Given the description of an element on the screen output the (x, y) to click on. 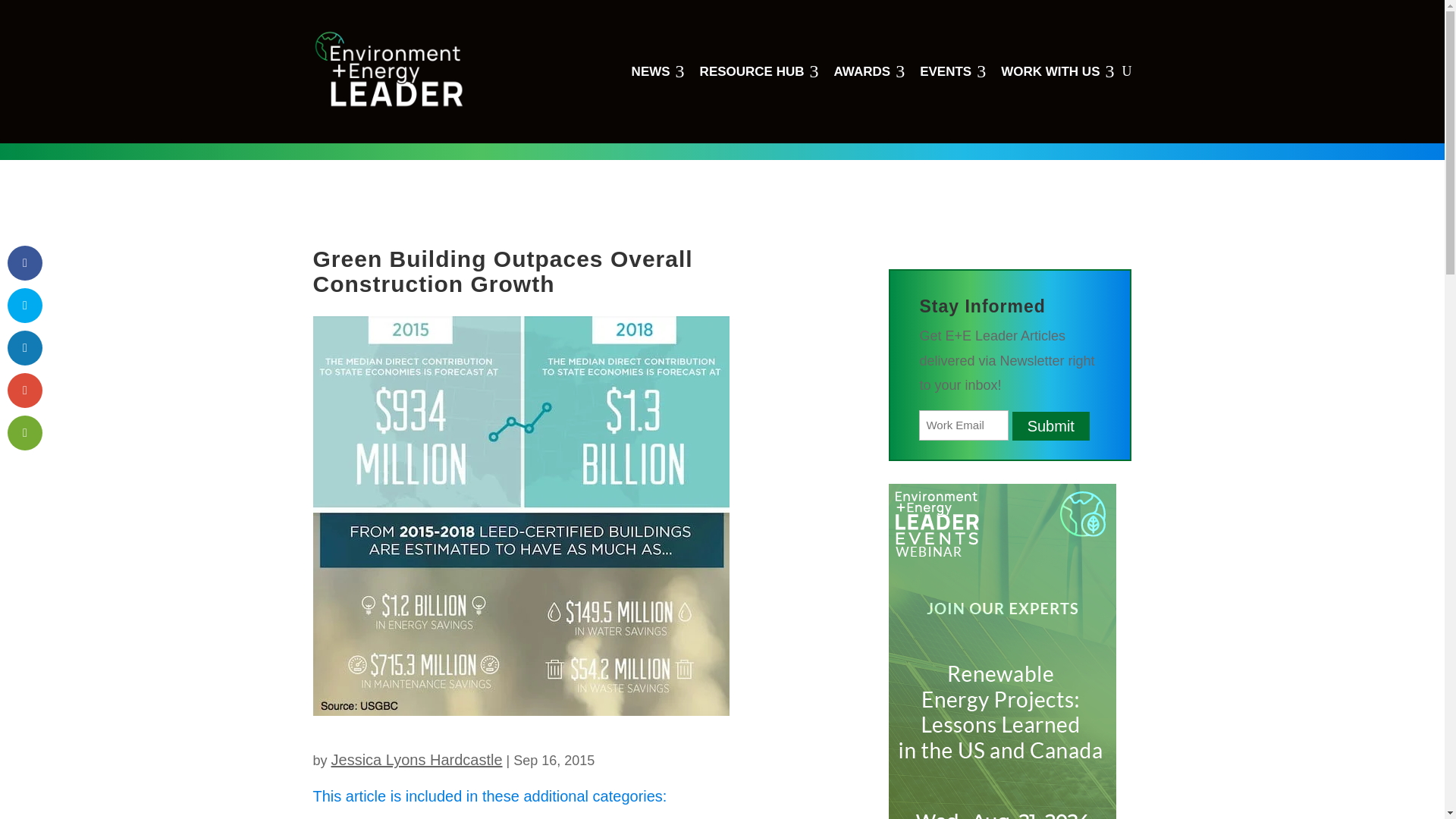
Submit (1050, 425)
USGBC 2015 green building study (1057, 71)
